Given the description of an element on the screen output the (x, y) to click on. 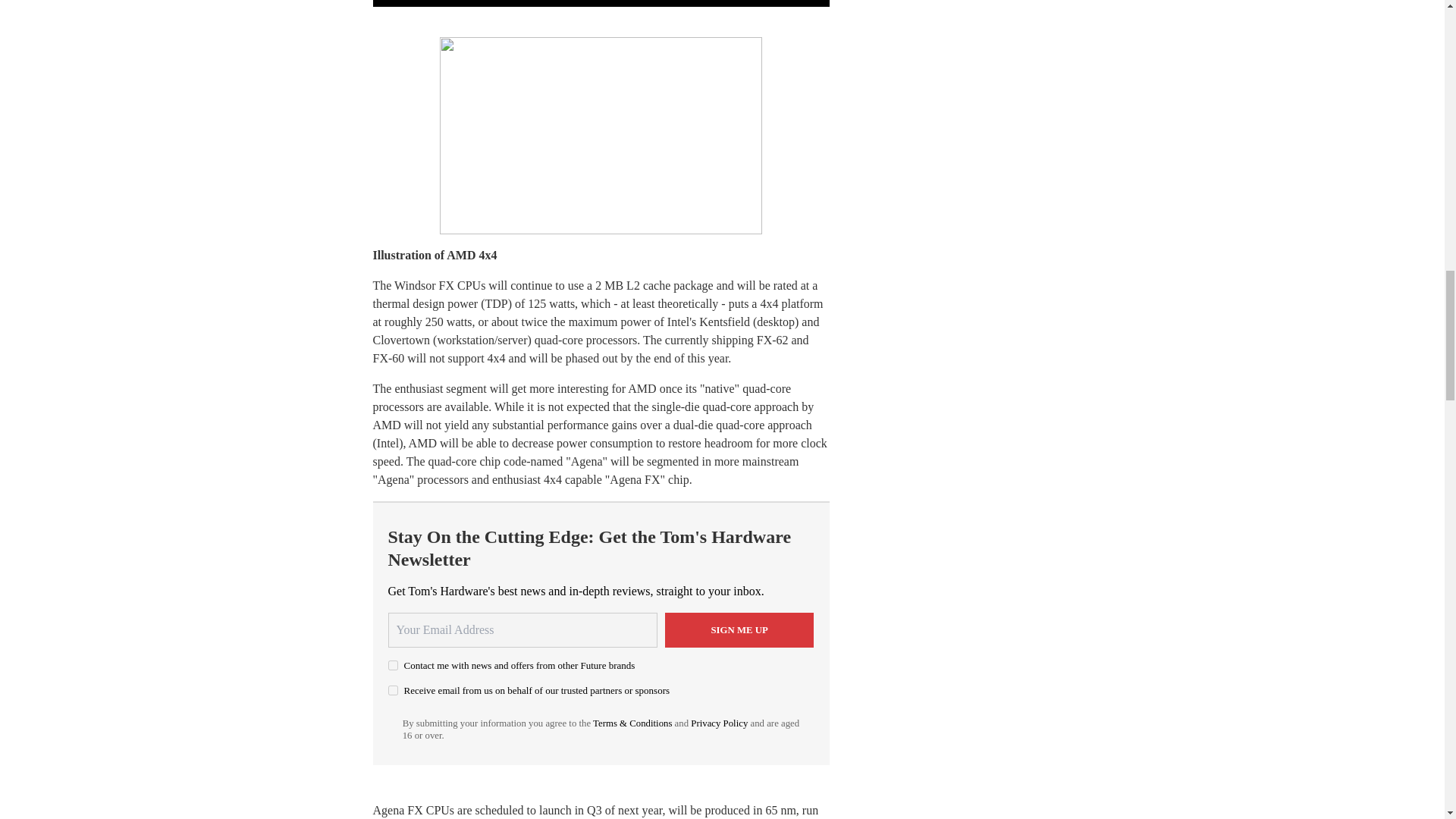
on (392, 690)
Sign me up (739, 629)
on (392, 665)
